Given the description of an element on the screen output the (x, y) to click on. 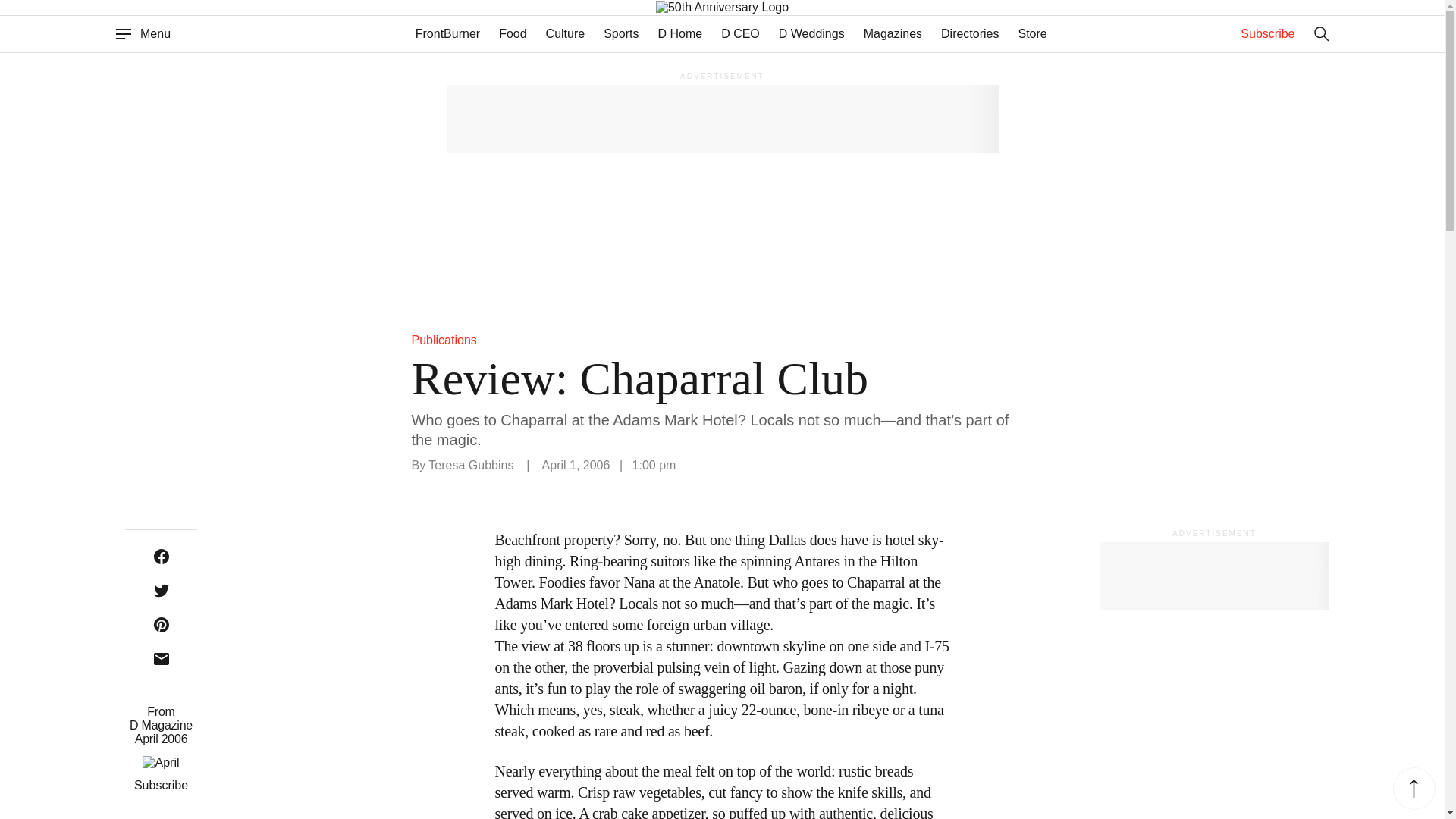
Subscribe (1267, 34)
Culture (565, 33)
FrontBurner (447, 33)
D Home (679, 33)
Sports (621, 33)
D Weddings (811, 33)
Store (1031, 33)
Magazines (892, 33)
D Magazine 50th Anniversary Article (752, 7)
